Given the description of an element on the screen output the (x, y) to click on. 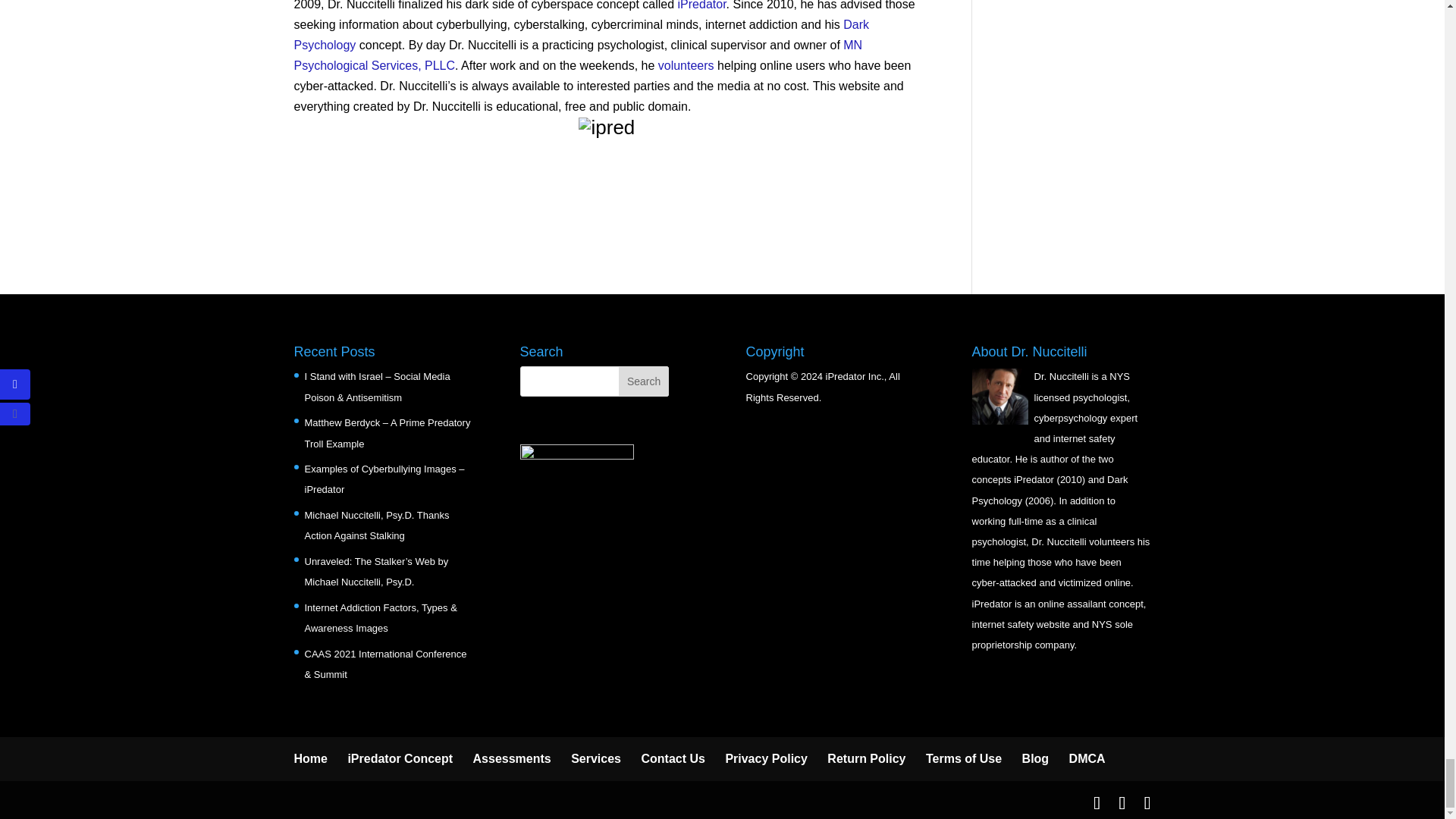
Search (643, 381)
